Given the description of an element on the screen output the (x, y) to click on. 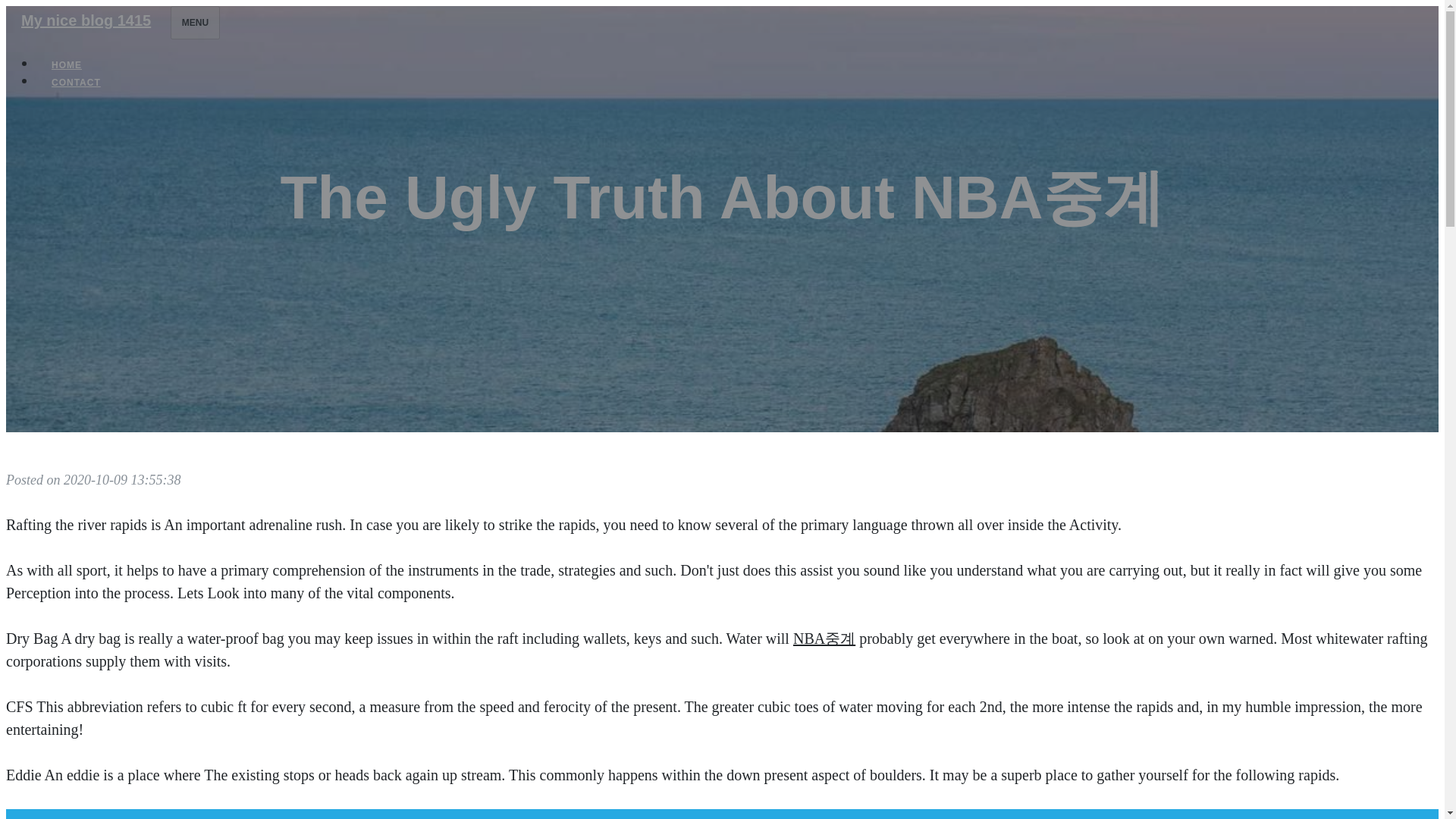
HOME (66, 64)
My nice blog 1415 (85, 20)
CONTACT (76, 82)
MENU (194, 22)
